Given the description of an element on the screen output the (x, y) to click on. 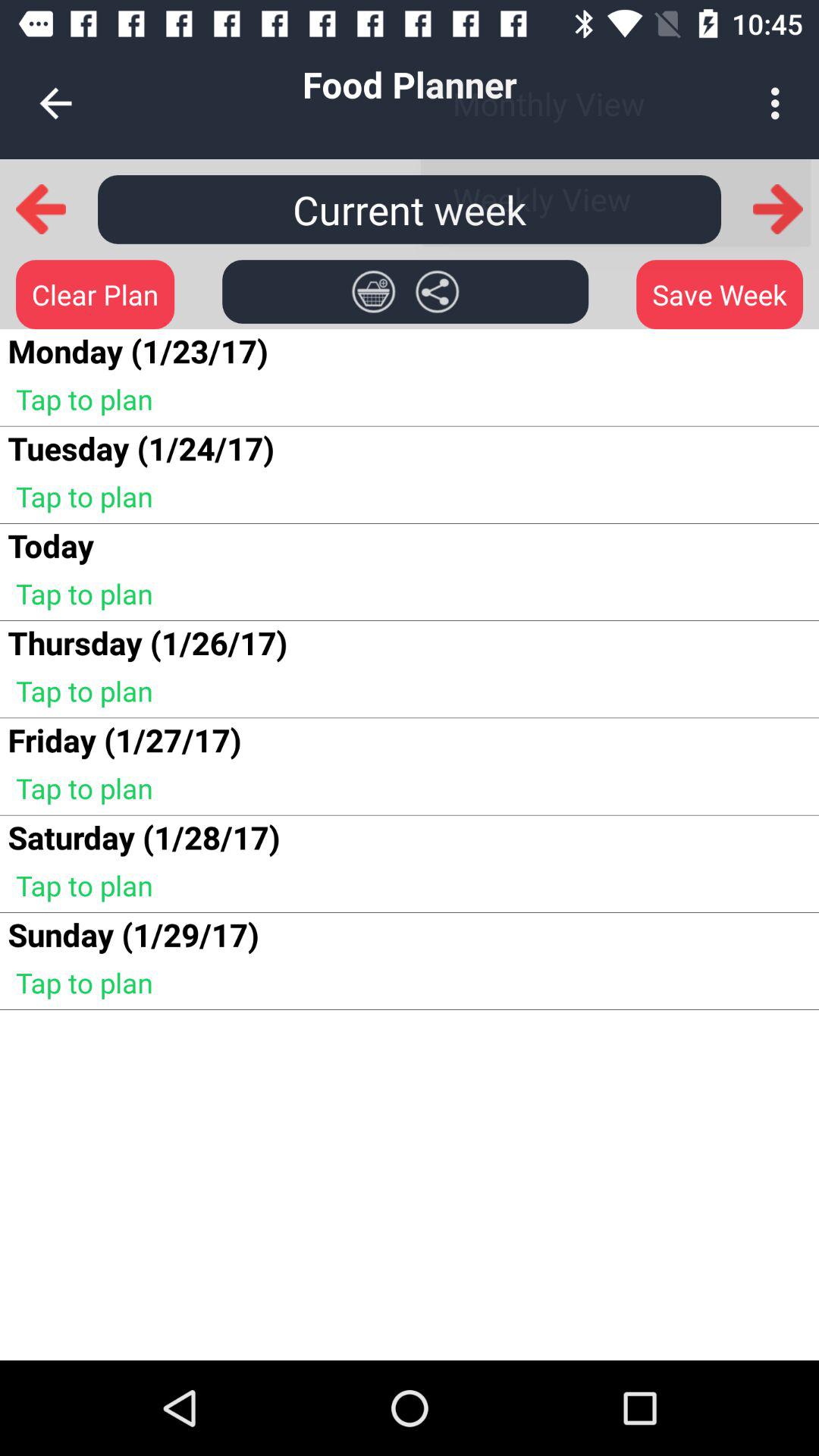
share icon (437, 291)
